Given the description of an element on the screen output the (x, y) to click on. 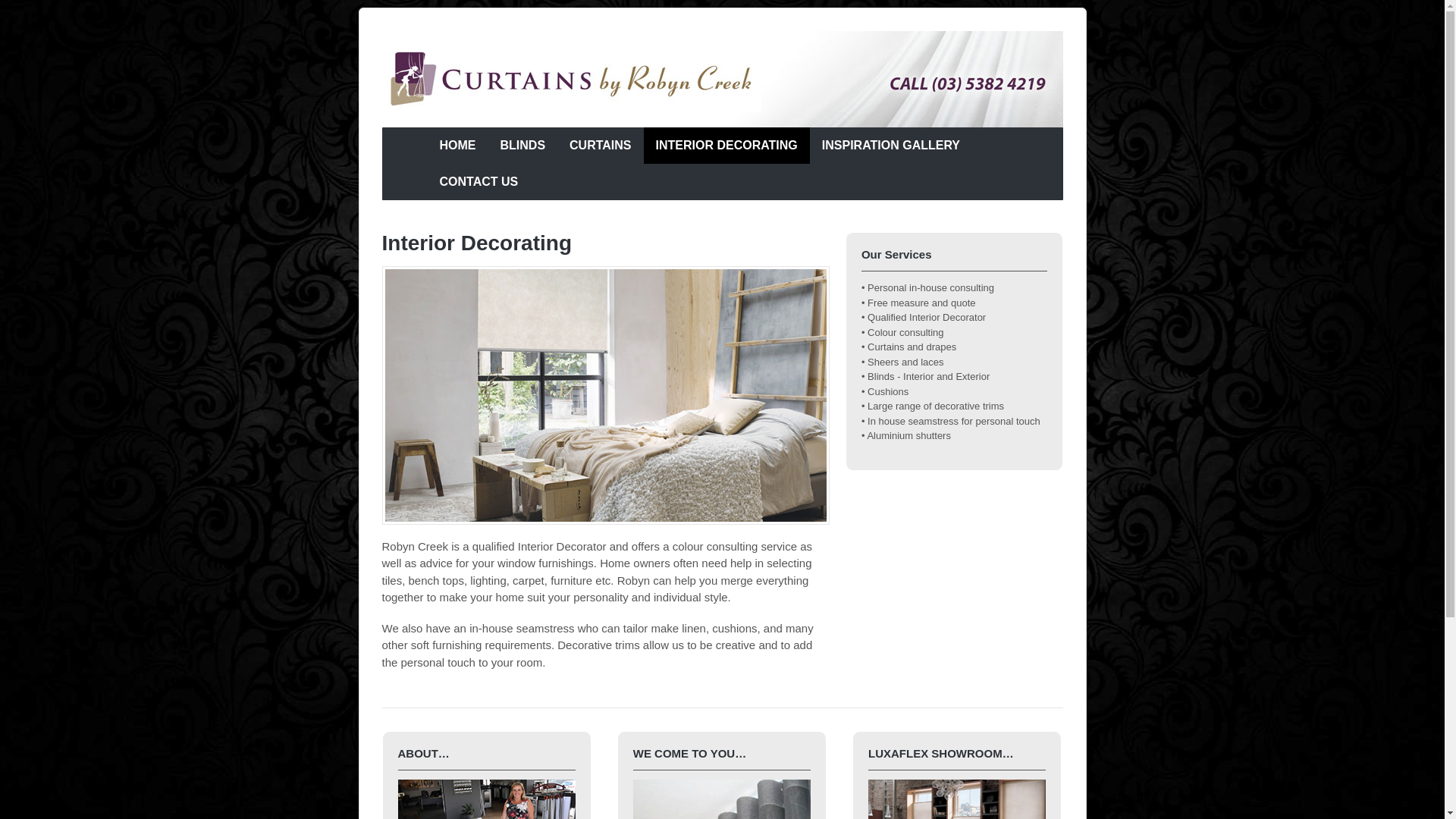
Certified Interior Decorator Element type: hover (571, 103)
CURTAINS Element type: text (600, 145)
BLINDS Element type: text (523, 145)
HOME Element type: text (457, 145)
INTERIOR DECORATING Element type: text (726, 145)
INSPIRATION GALLERY Element type: text (890, 145)
CONTACT US Element type: text (478, 181)
